Given the description of an element on the screen output the (x, y) to click on. 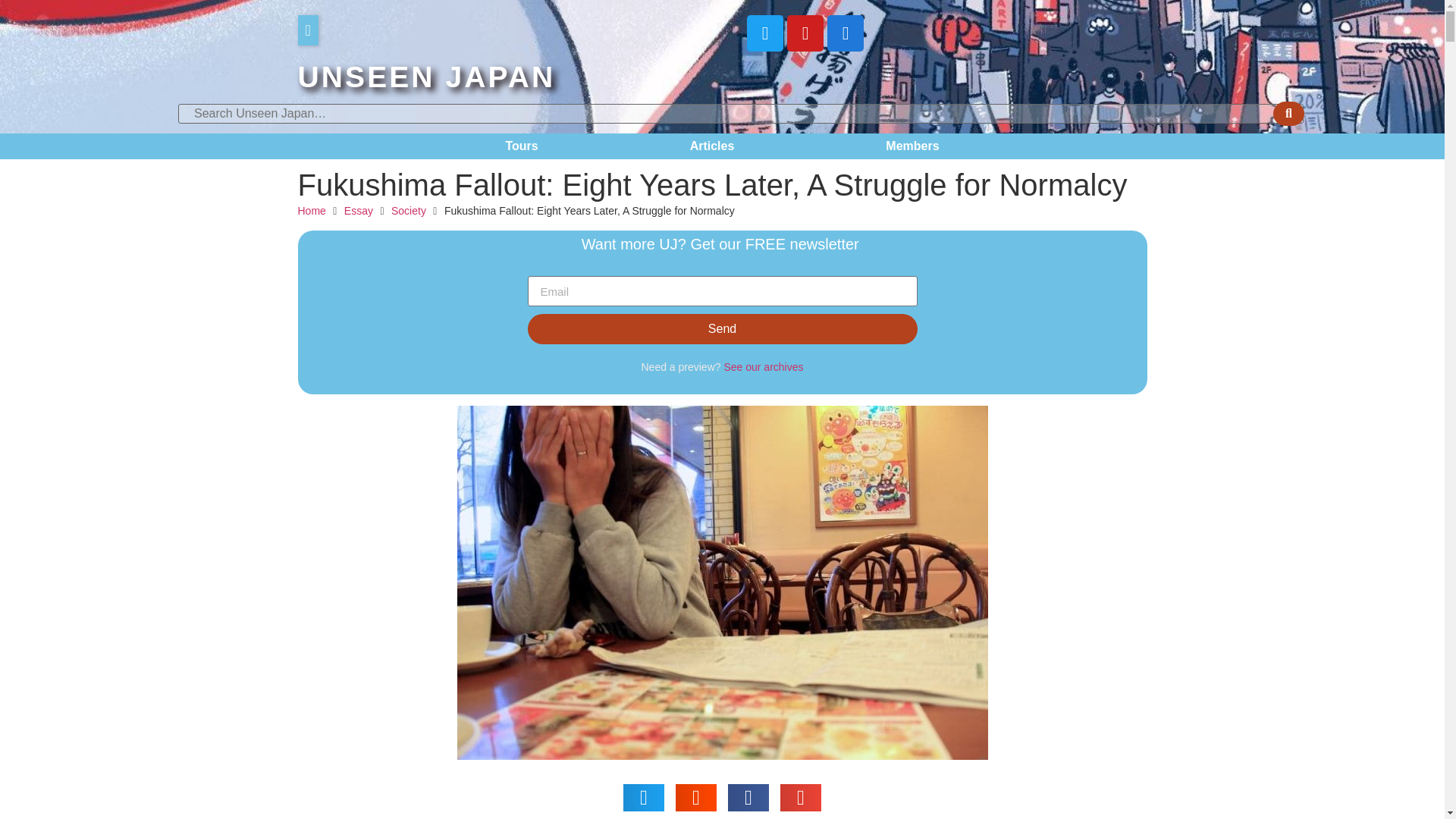
Society (408, 211)
See our archives (763, 367)
tsunami (813, 791)
people (706, 791)
Home (310, 211)
UNSEEN JAPAN (425, 76)
fukushima (563, 791)
unseenjapan (876, 791)
Send (722, 328)
Members (911, 145)
Society (1002, 791)
Tours (521, 145)
Home (310, 211)
Society (408, 211)
nuclear disaster (639, 791)
